Given the description of an element on the screen output the (x, y) to click on. 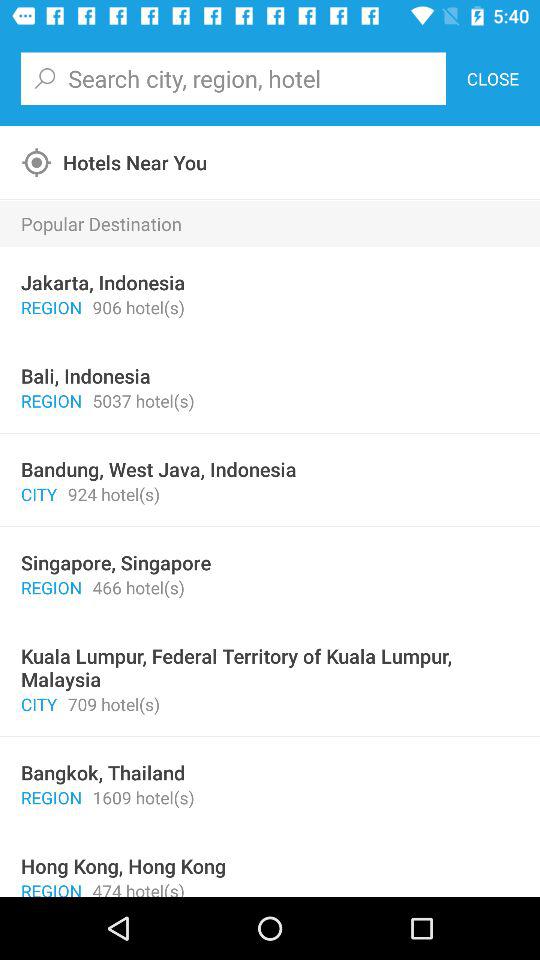
turn on close item (492, 78)
